Given the description of an element on the screen output the (x, y) to click on. 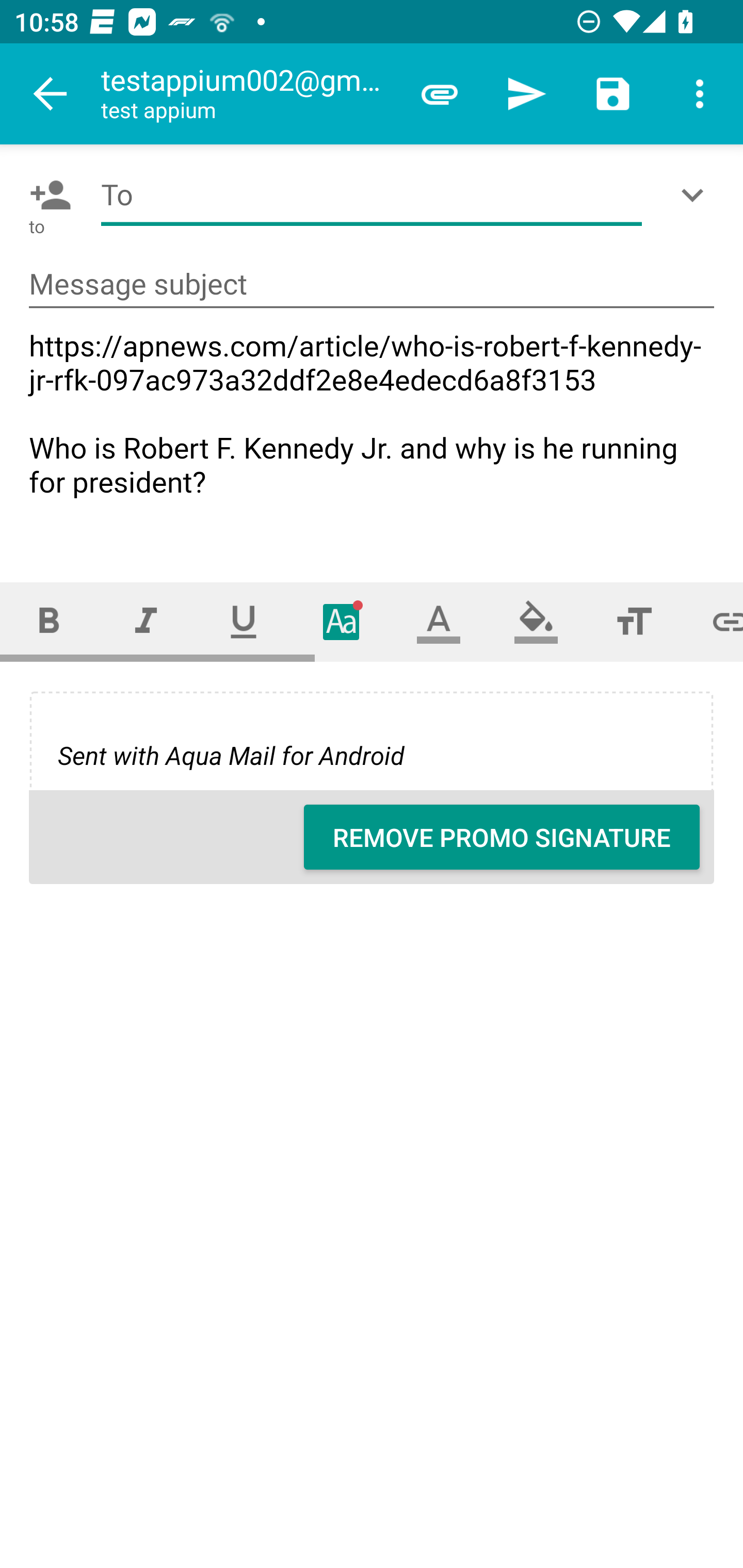
Navigate up (50, 93)
testappium002@gmail.com test appium (248, 93)
Attach (439, 93)
Send (525, 93)
Save (612, 93)
More options (699, 93)
Pick contact: To (46, 195)
Show/Add CC/BCC (696, 195)
To (371, 195)
Message subject (371, 284)
Bold (48, 621)
Italic (145, 621)
Underline (243, 621)
Typeface (font) (341, 621)
Text color (438, 621)
Fill color (536, 621)
Font size (633, 621)
Set link (712, 621)
REMOVE PROMO SIGNATURE (501, 837)
